Given the description of an element on the screen output the (x, y) to click on. 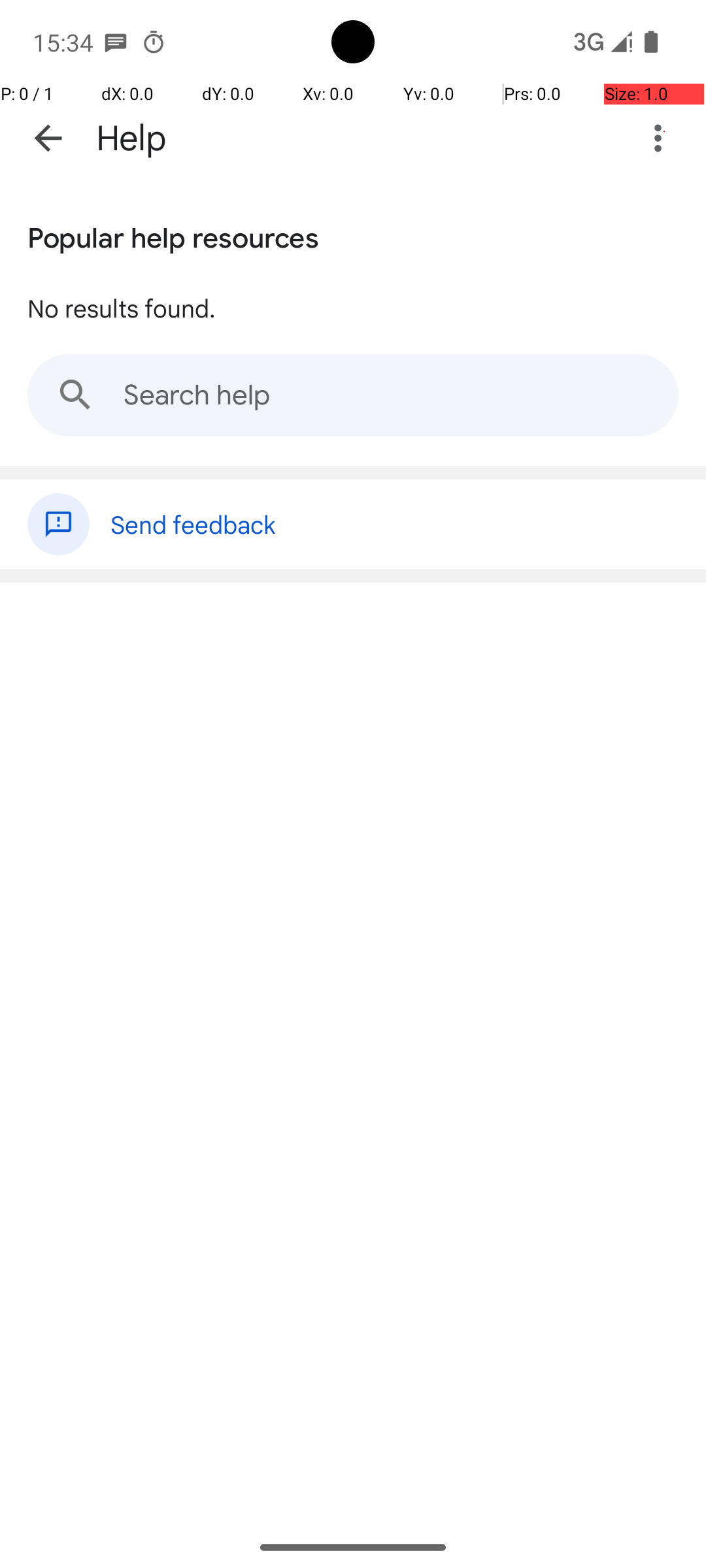
Popular help resources Element type: android.widget.TextView (173, 235)
Search help Element type: androidx.cardview.widget.CardView (352, 395)
No results found. Element type: android.widget.TextView (121, 307)
